Given the description of an element on the screen output the (x, y) to click on. 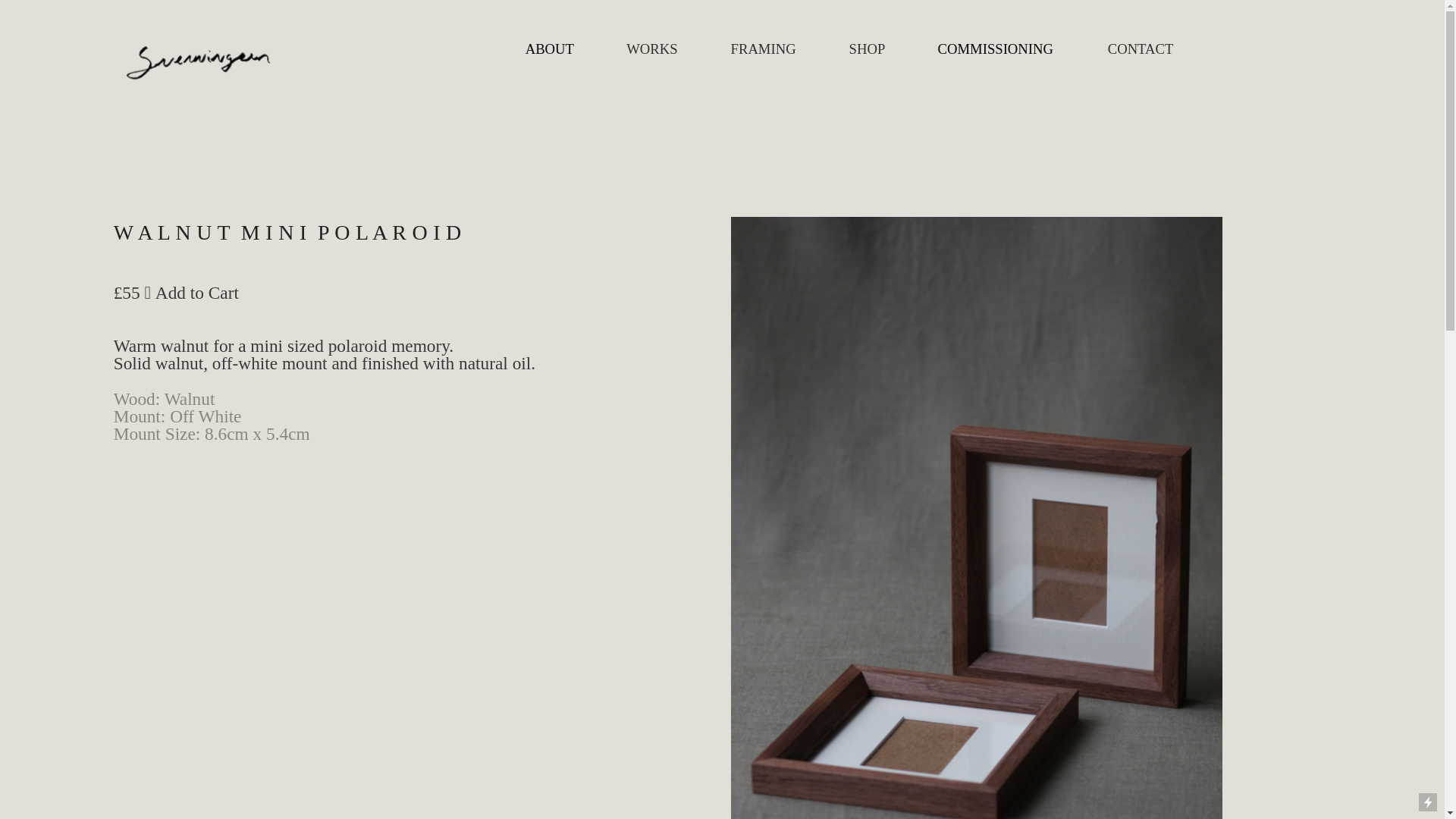
 CONTACT (1137, 48)
WORKS     (658, 48)
 SHOP      (873, 48)
ABOUT    (556, 48)
COMMISSIONING (997, 48)
FRAMING       (773, 48)
